Given the description of an element on the screen output the (x, y) to click on. 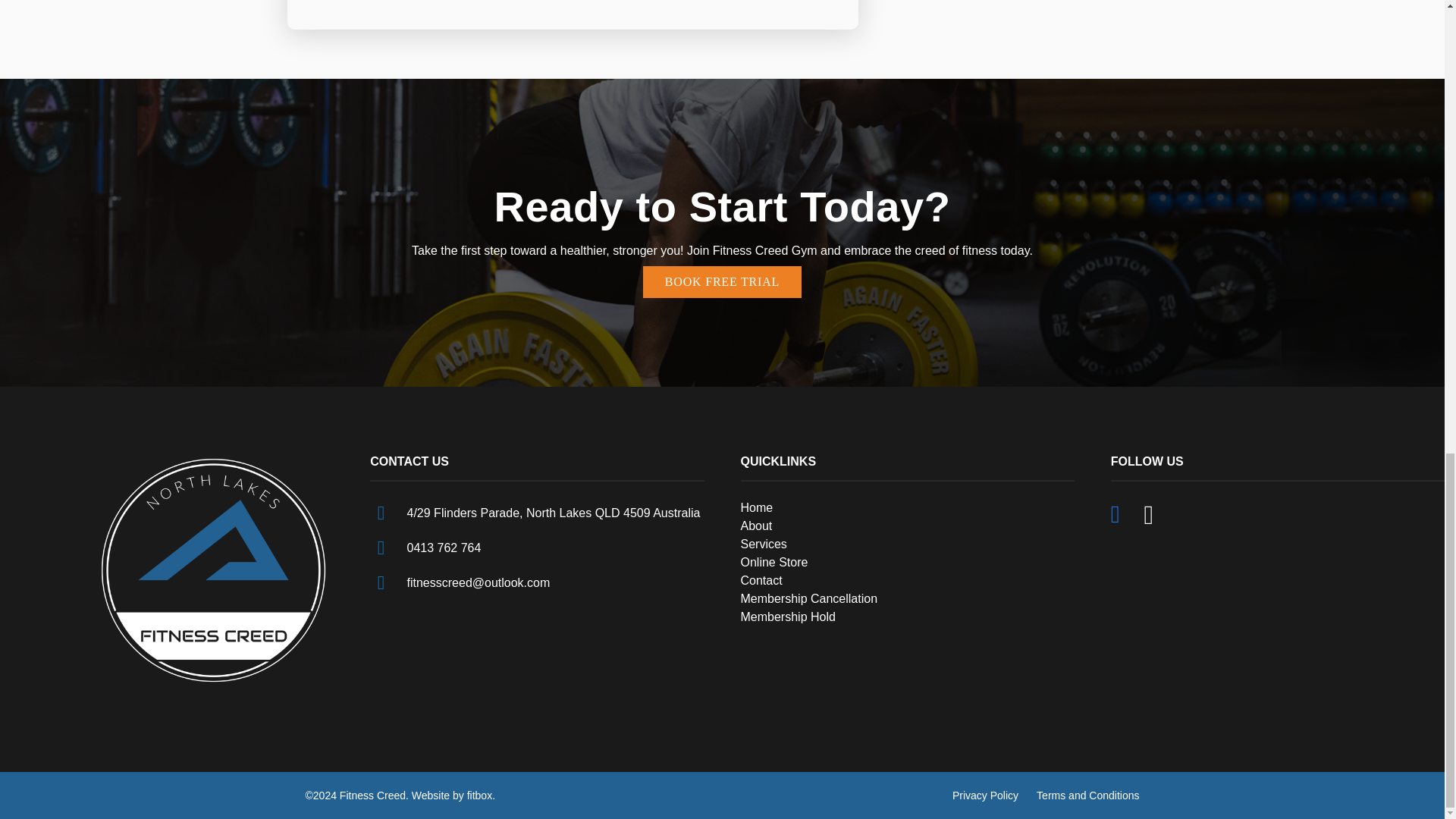
About (755, 525)
Privacy Policy (984, 795)
Membership Hold (786, 616)
BOOK FREE TRIAL (722, 282)
Services (762, 543)
Contact (760, 580)
0413 762 764 (444, 547)
Membership Cancellation (808, 598)
Terms and Conditions (1087, 795)
Home (756, 507)
Online Store (773, 562)
